Given the description of an element on the screen output the (x, y) to click on. 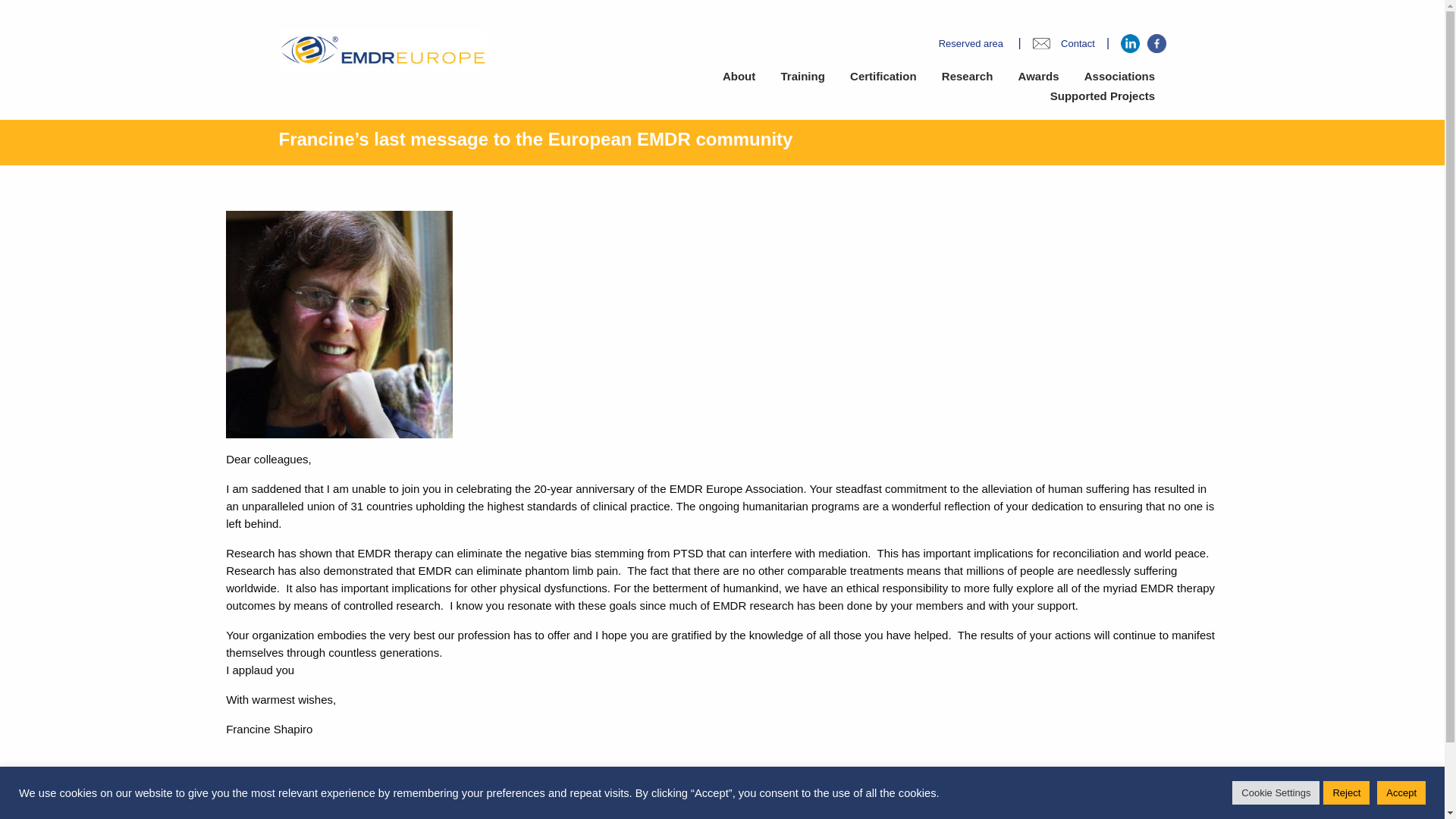
About (738, 77)
Linkedin (1130, 43)
Facebook (1150, 816)
Facebook (1156, 43)
Contact (1073, 43)
Vai alla home page di - EMDR European Association (382, 49)
Reserved area (967, 43)
Linkedin (1101, 816)
